Given the description of an element on the screen output the (x, y) to click on. 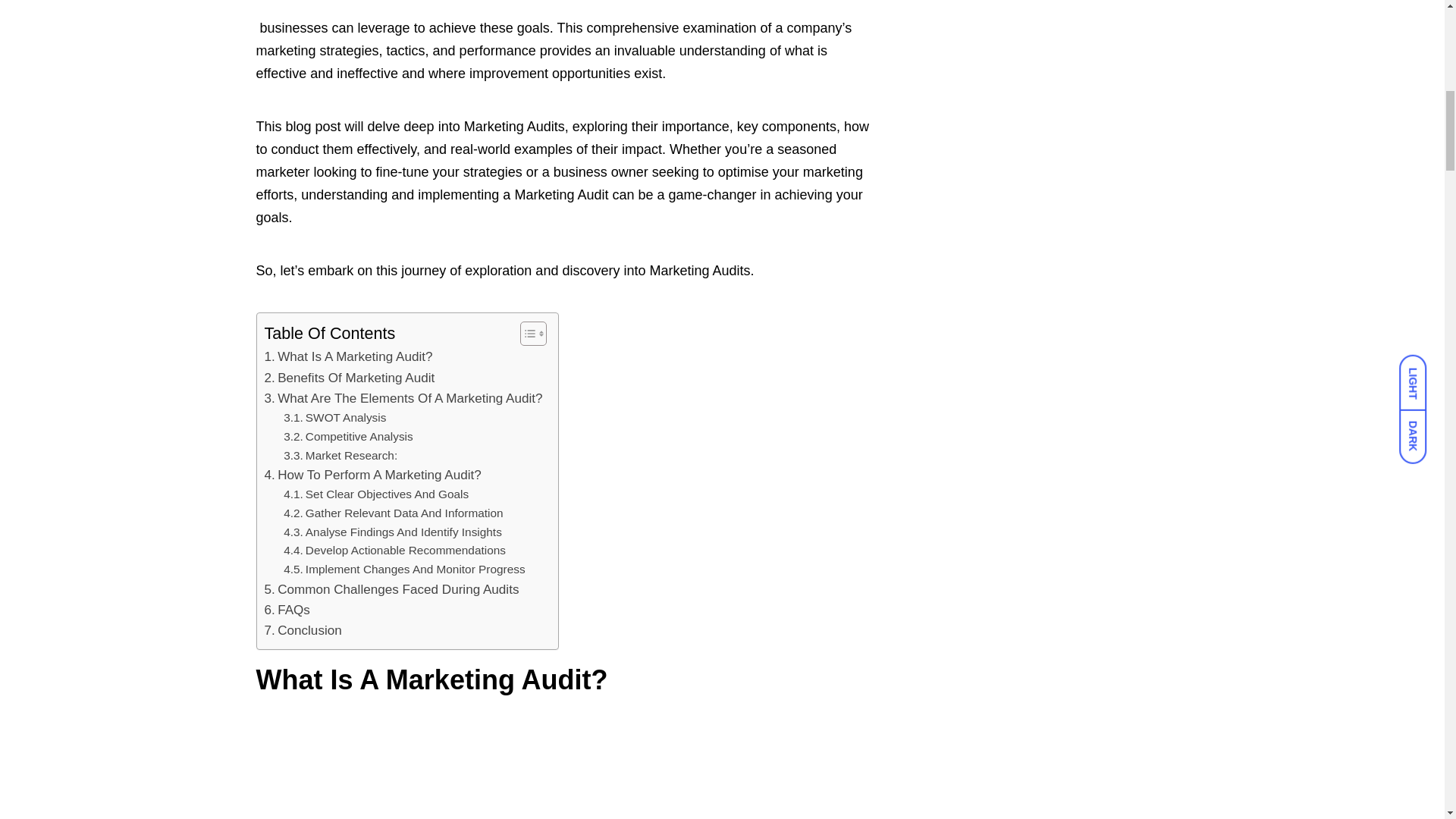
Benefits Of Marketing Audit (348, 377)
SWOT Analysis (334, 417)
What Are The Elements Of A Marketing Audit? (402, 398)
Market Research: (340, 456)
Competitive Analysis (348, 436)
What Is A Marketing Audit? (347, 356)
